Given the description of an element on the screen output the (x, y) to click on. 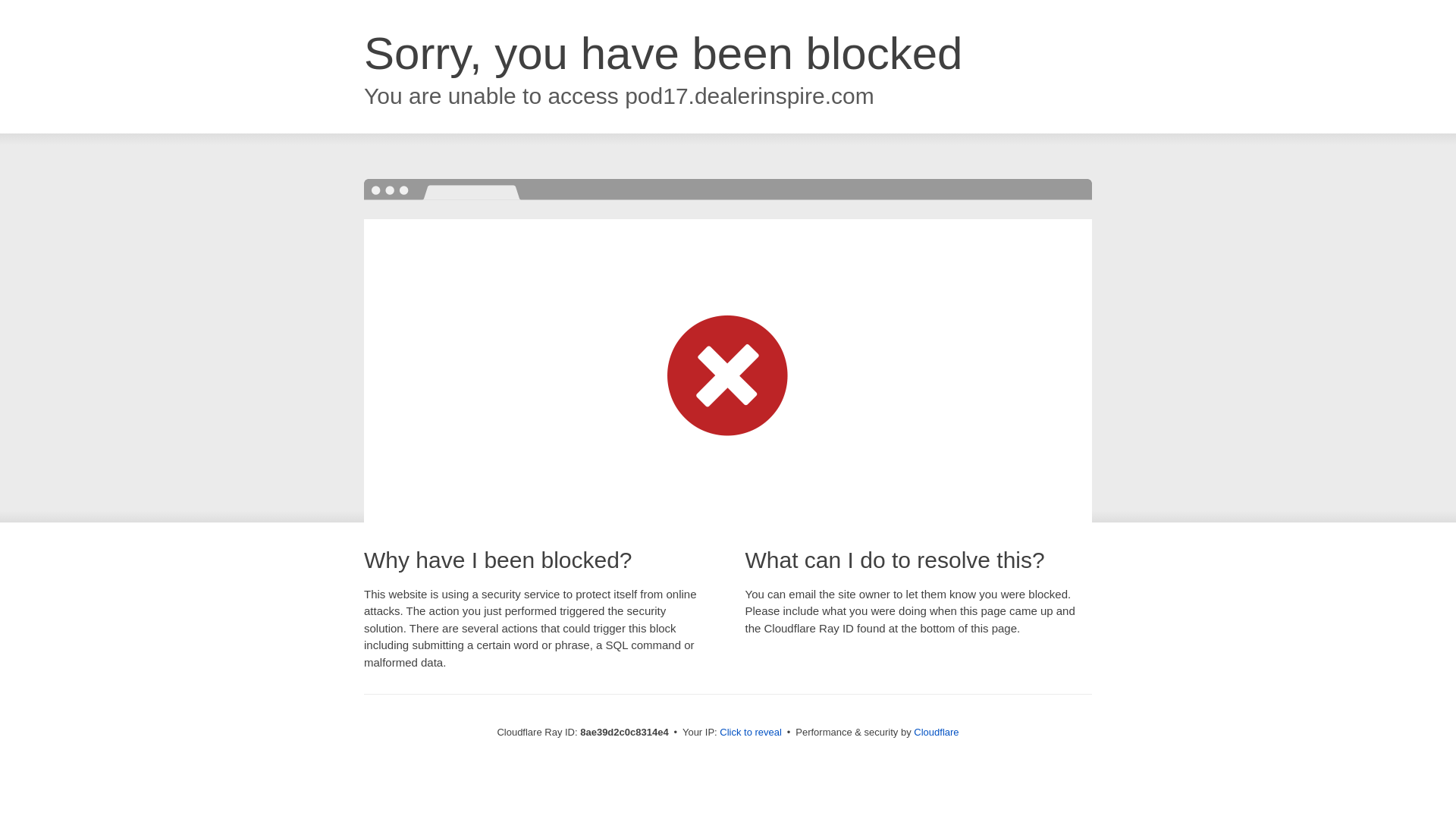
Cloudflare (933, 731)
Click to reveal (747, 732)
